Given the description of an element on the screen output the (x, y) to click on. 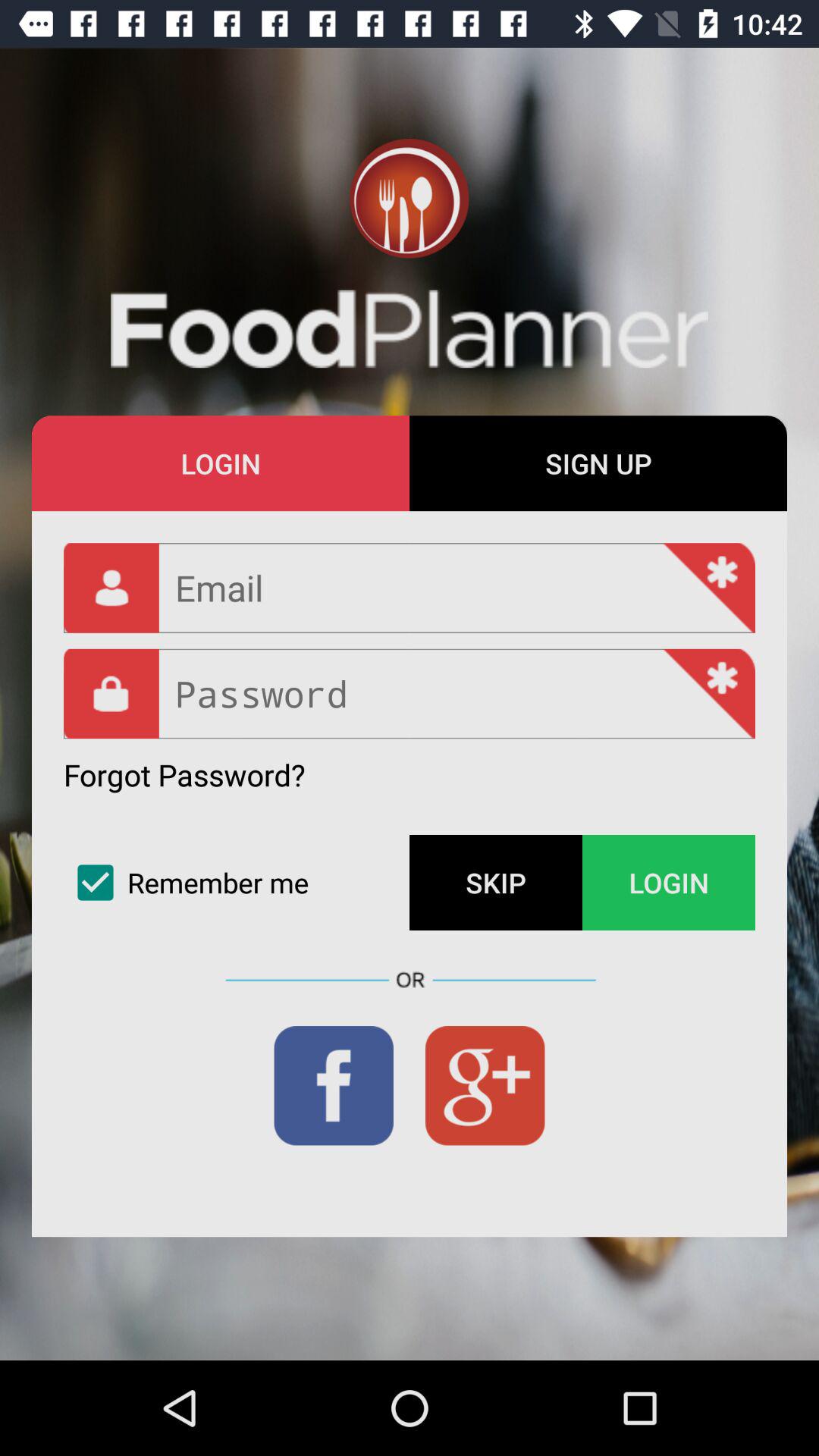
turn on the sign up item (598, 463)
